Given the description of an element on the screen output the (x, y) to click on. 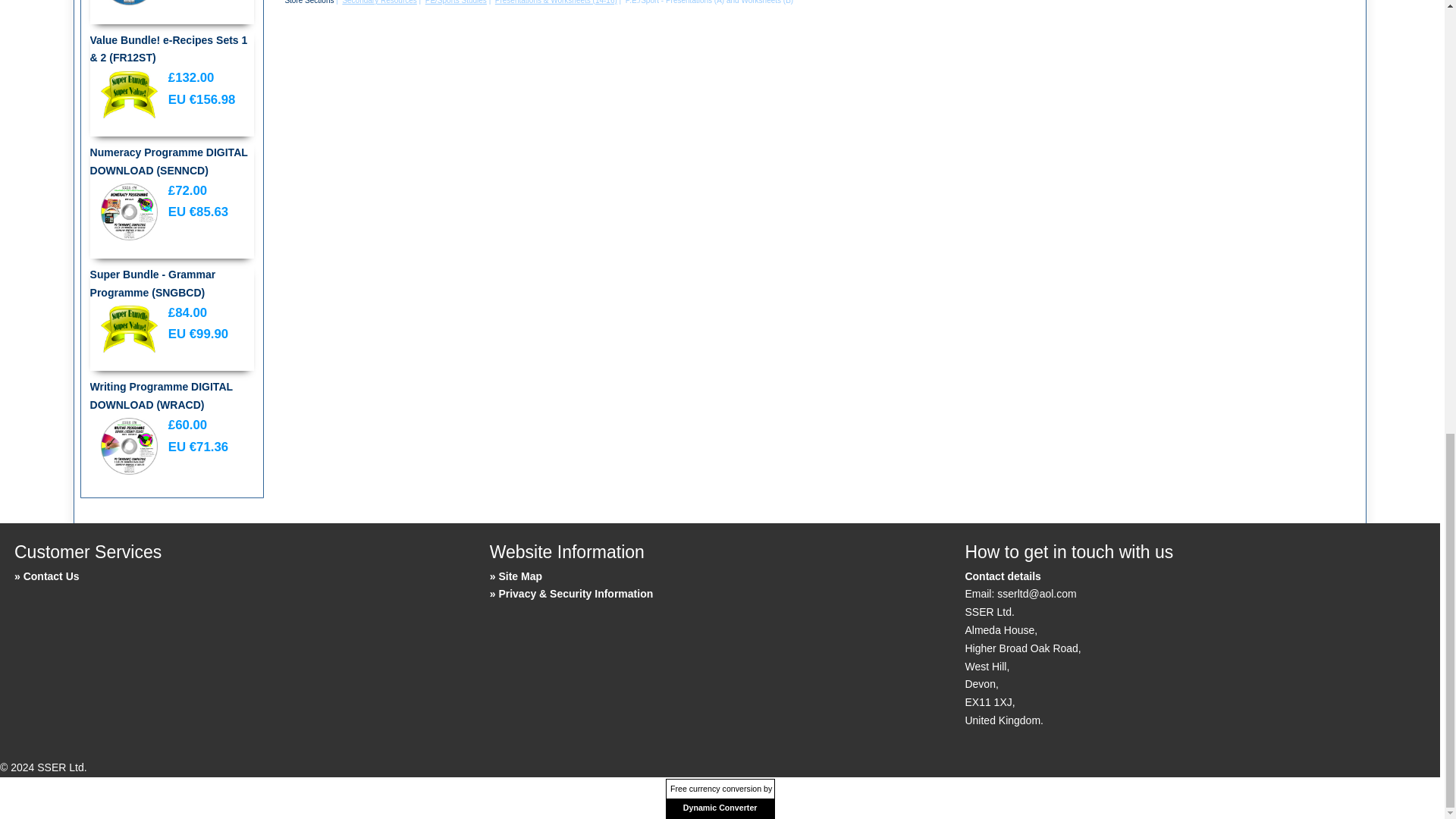
Store Sections (308, 2)
Secondary Resources (379, 2)
